Given the description of an element on the screen output the (x, y) to click on. 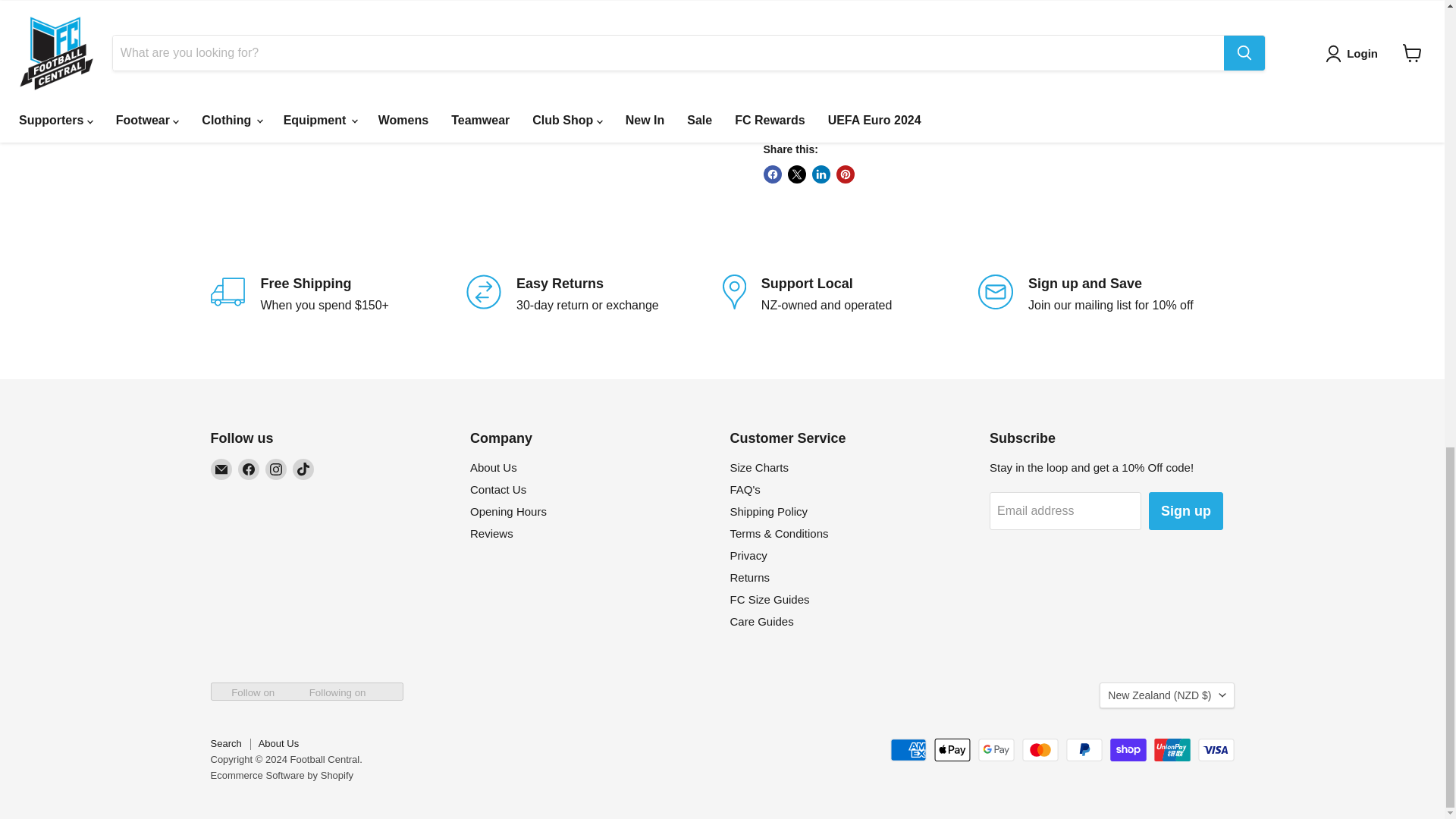
Email (221, 468)
Facebook (248, 468)
Instagram (275, 468)
TikTok (303, 468)
